Given the description of an element on the screen output the (x, y) to click on. 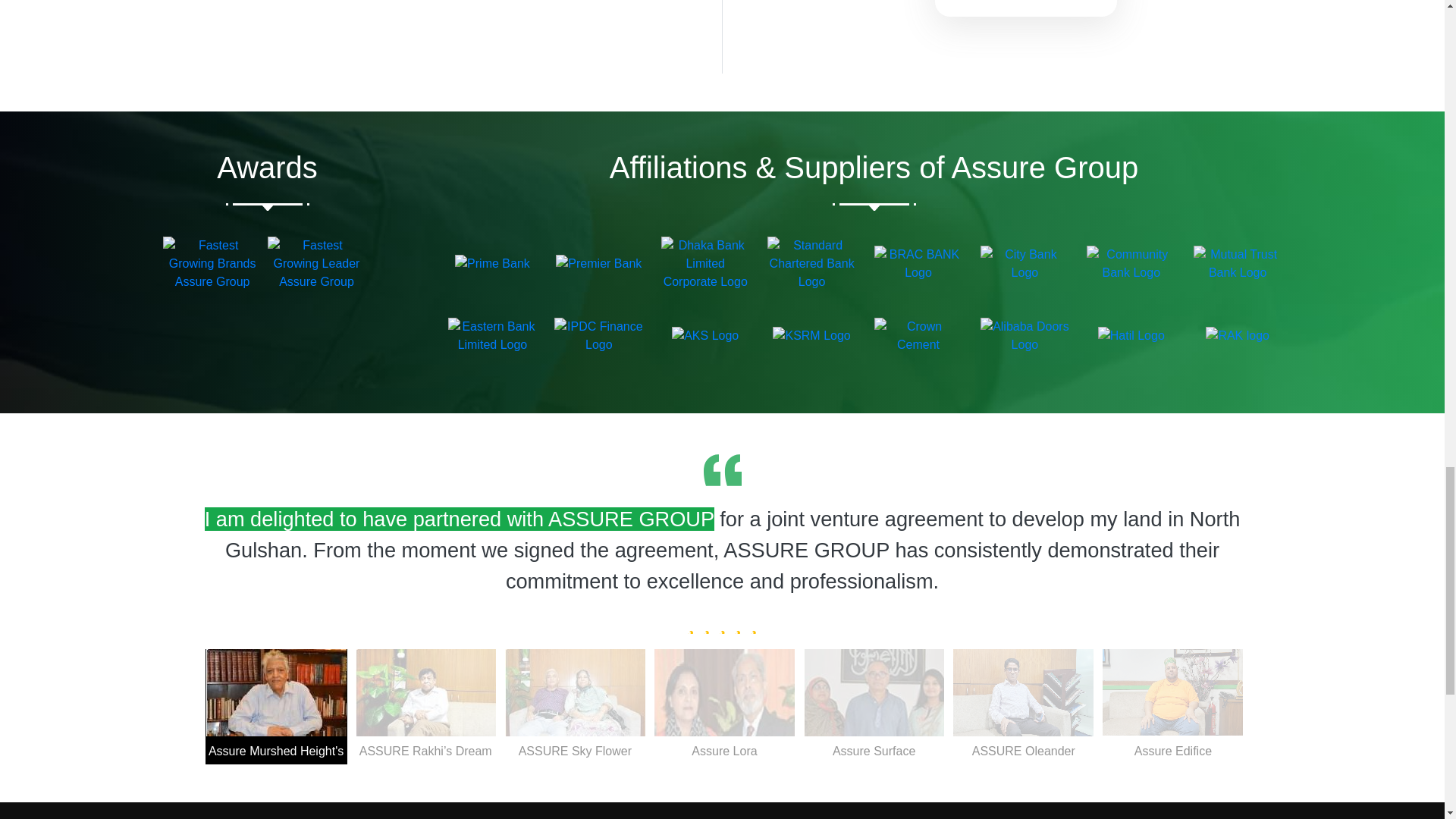
Community Bank Bangladesh Limited (1130, 263)
City Bank Logo (1023, 263)
Mutual Trust Bank (1237, 263)
Hatil (1130, 335)
Standard Chartered Bank (811, 263)
Fastest Growing Business Leader of Bangladesh 2020-21 (315, 263)
IPDC Finance (598, 335)
RAK (1237, 335)
Fastest-Growing Brands 2020 - 21 (212, 263)
Alibaba Doors (1023, 335)
BRAC Bank Limited (917, 263)
Crown Cement (917, 335)
Eastern Bank Limited (492, 335)
AKS (704, 335)
KSRM (811, 335)
